Given the description of an element on the screen output the (x, y) to click on. 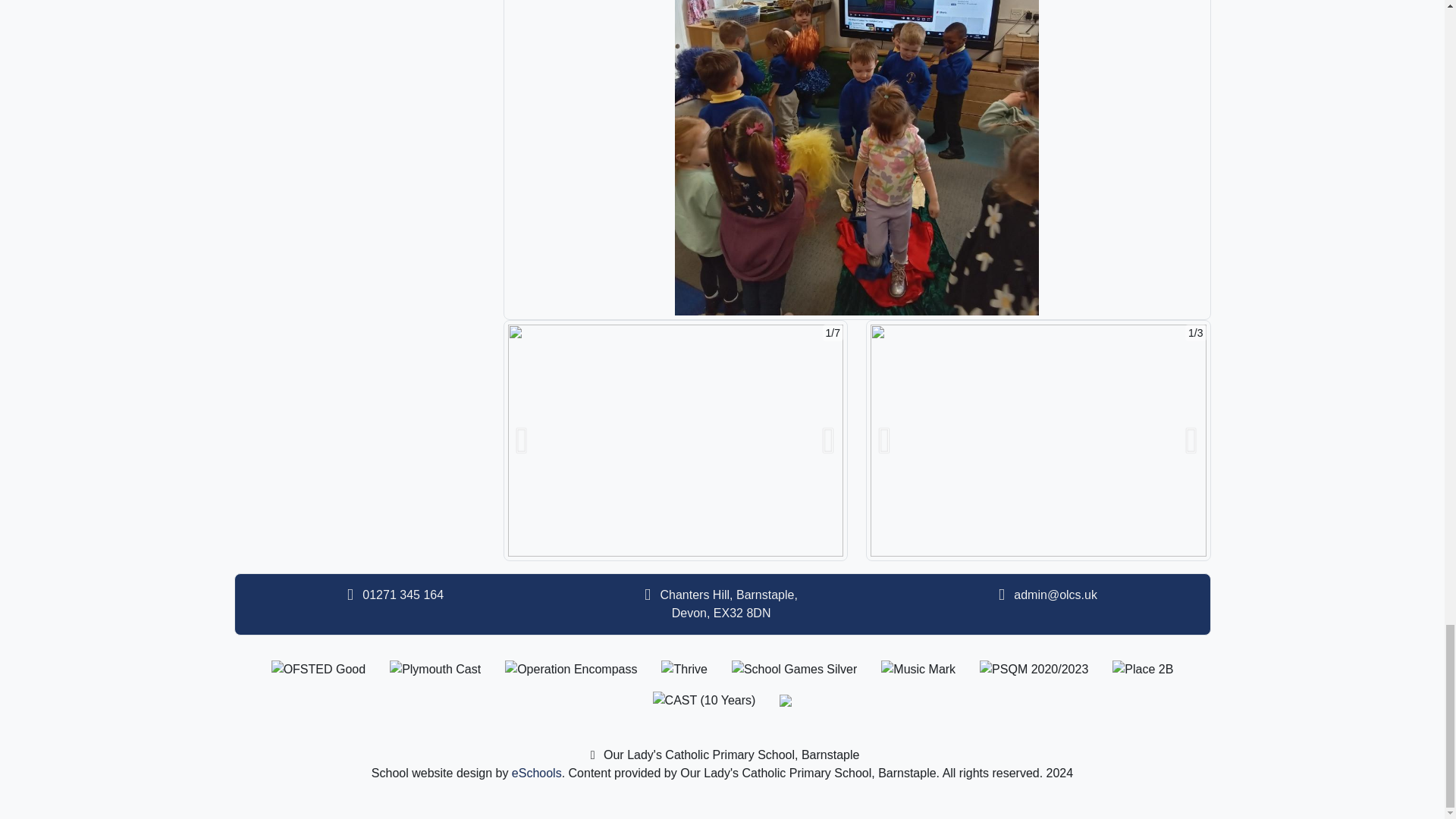
Place 2B (1142, 669)
Operation Encompass (571, 669)
OFSTED Good (317, 669)
Plymouth Cast (435, 669)
School Games Silver (794, 669)
Music Mark (917, 669)
Thrive (683, 669)
